Given the description of an element on the screen output the (x, y) to click on. 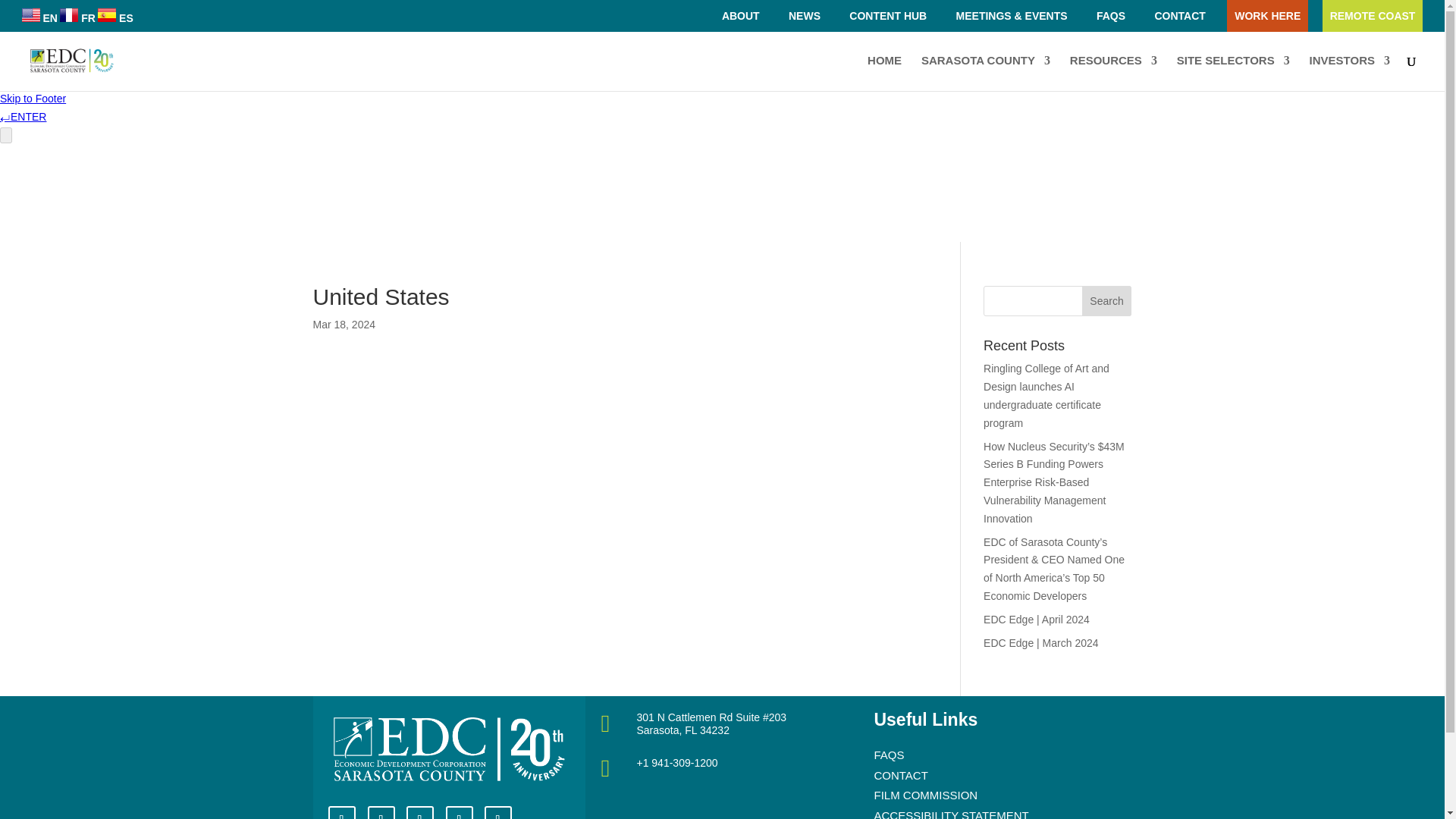
Follow on Instagram (459, 812)
NEWS (804, 15)
Follow on Facebook (419, 812)
Follow on Vimeo (497, 812)
EN (39, 18)
FAQS (1110, 15)
HOME (884, 72)
ES (115, 18)
ABOUT (740, 15)
REMOTE COAST (1372, 15)
Follow on Youtube (380, 812)
Spanish (115, 18)
French (77, 18)
SARASOTA COUNTY (985, 72)
FR (77, 18)
